Given the description of an element on the screen output the (x, y) to click on. 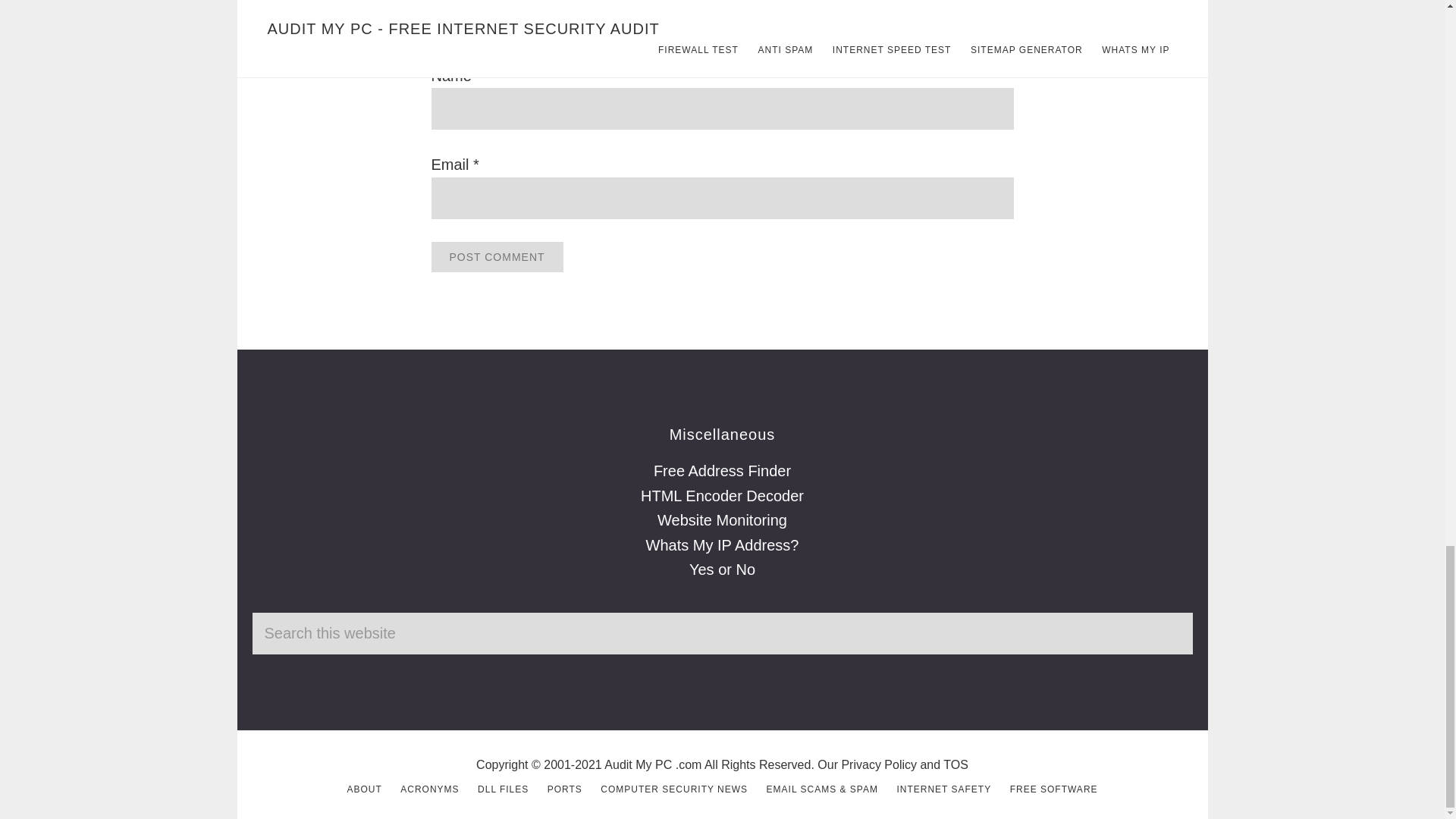
Free Address Finder (721, 470)
AuditMyPC.com Terms of Service (955, 764)
ABOUT (363, 788)
Privacy Policy (879, 764)
Audit My PC (637, 764)
TOS (955, 764)
Yes or No (721, 569)
DLL FILES (502, 788)
HTML Encoder Decoder (721, 495)
AuditMyPC.com Privacy Statement (879, 764)
FREE SOFTWARE (1053, 788)
ACRONYMS (429, 788)
